Given the description of an element on the screen output the (x, y) to click on. 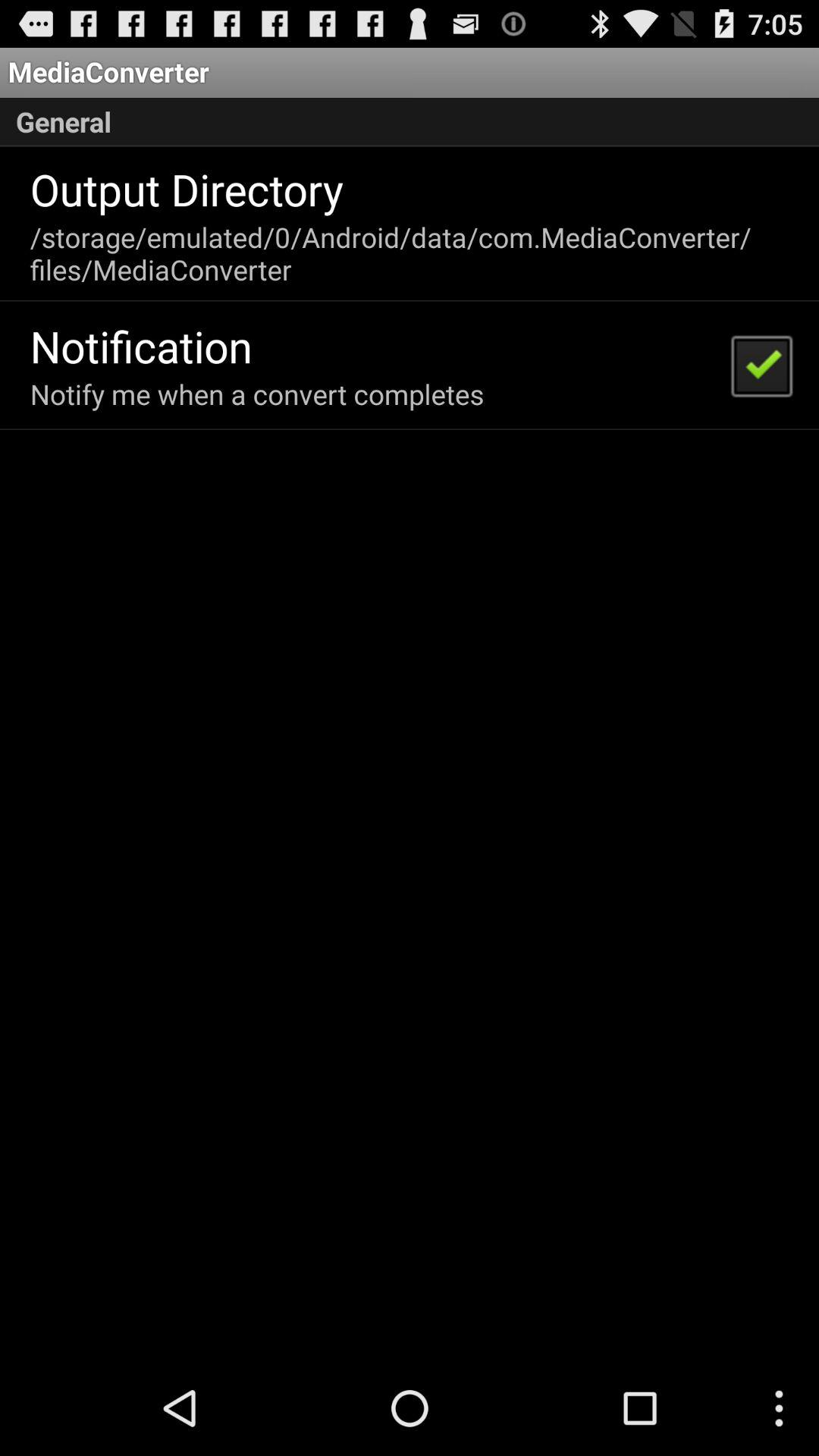
tap the item at the top right corner (761, 364)
